Given the description of an element on the screen output the (x, y) to click on. 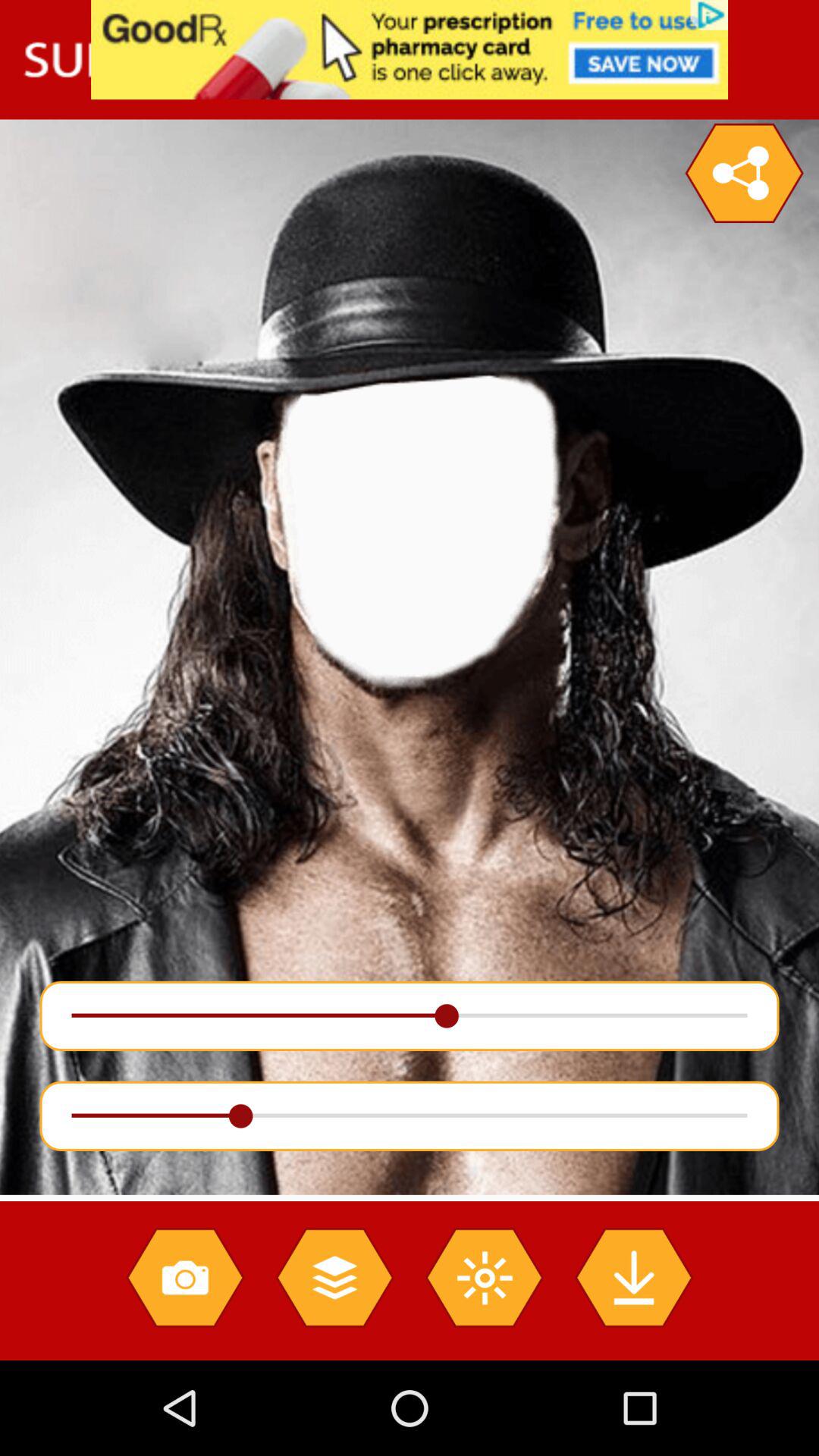
change luminosity (484, 1277)
